Given the description of an element on the screen output the (x, y) to click on. 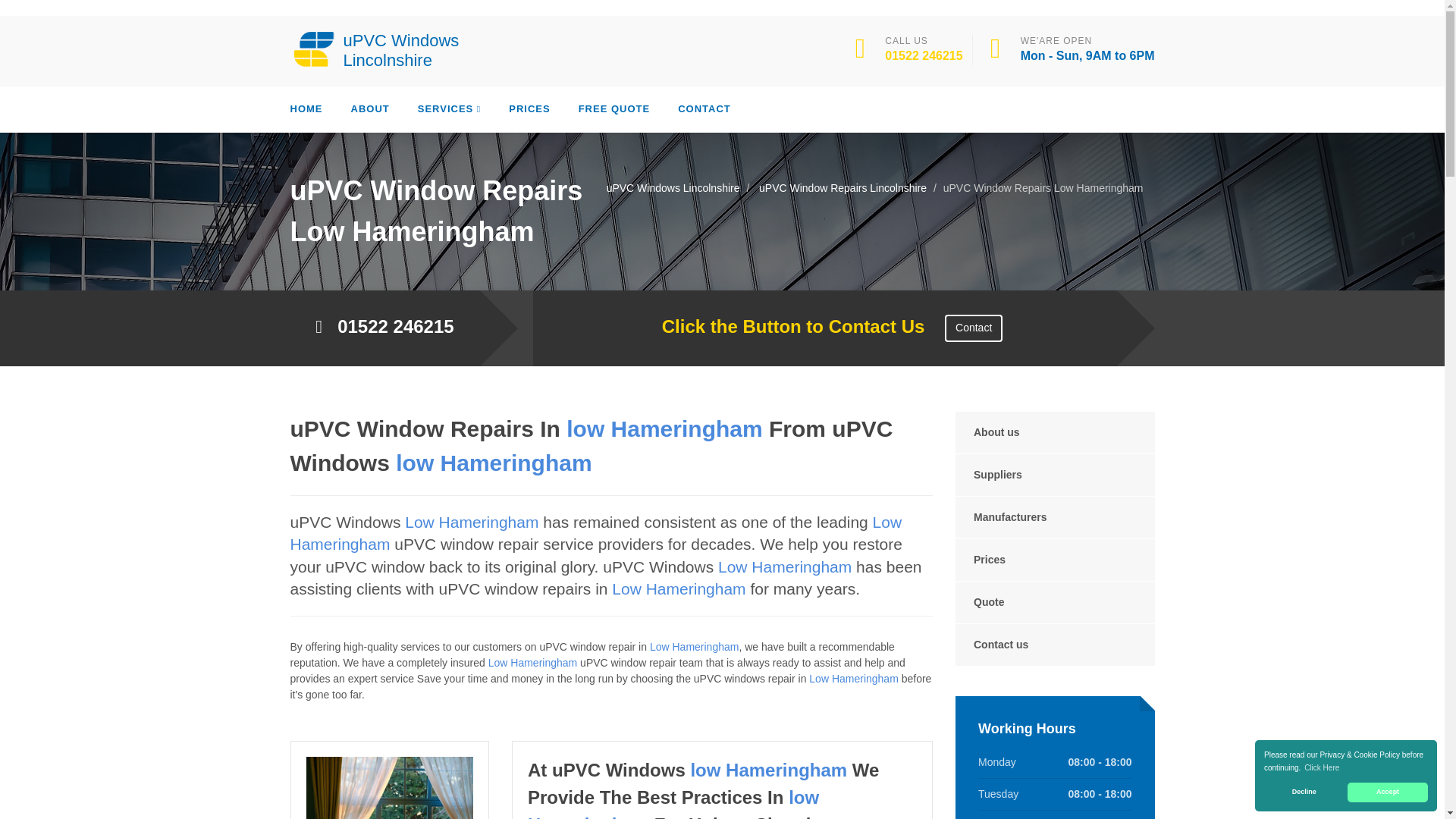
Accept (1388, 792)
SERVICES (449, 108)
Click Here (1321, 767)
uPVC Windows Lincolnshire (380, 49)
01522 246215 (923, 55)
Decline (1303, 792)
uPVC Windows Lincolnshire (380, 49)
